Given the description of an element on the screen output the (x, y) to click on. 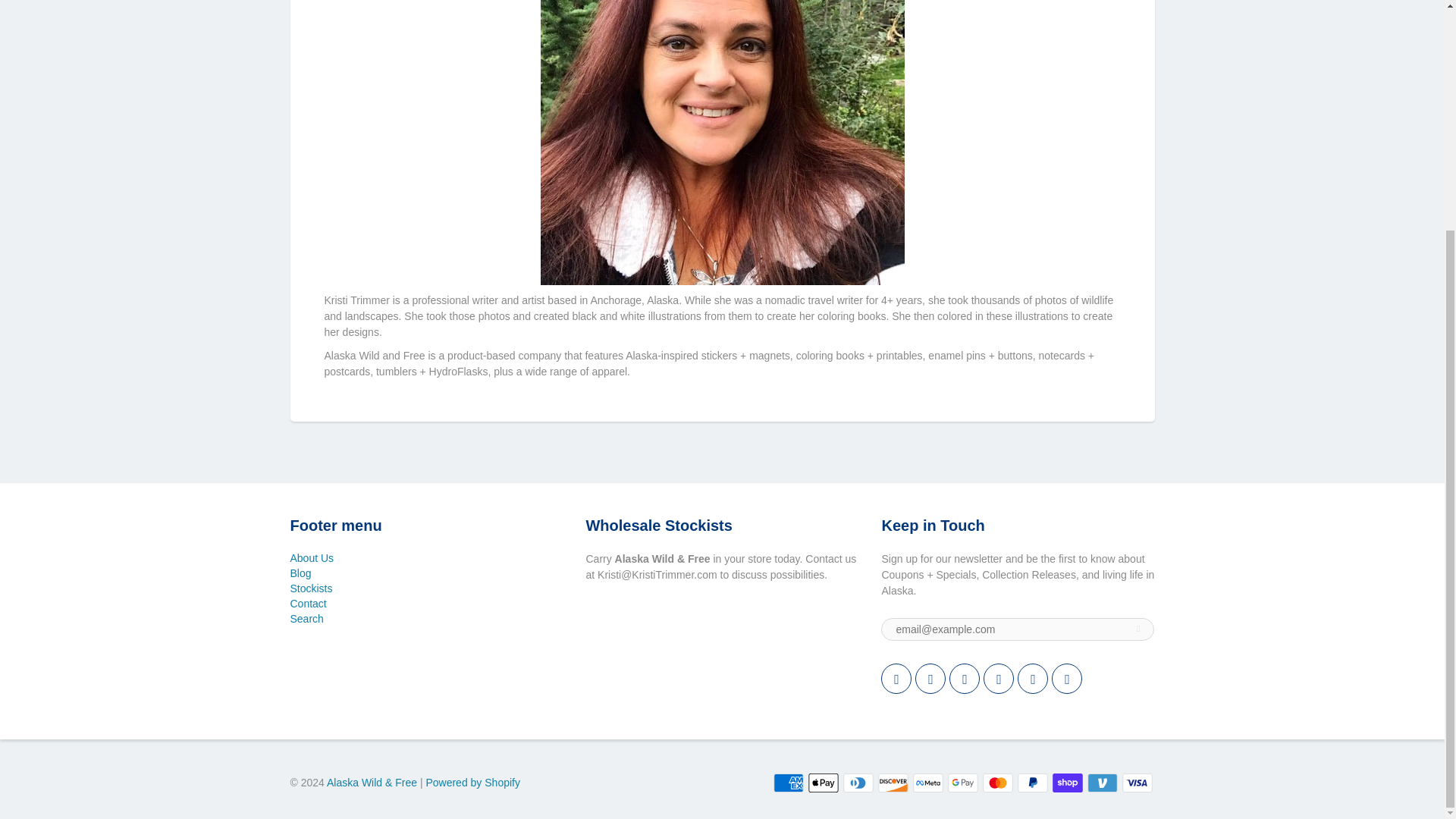
YouTube (1066, 678)
Facebook (929, 678)
Pinterest (964, 678)
Discover (892, 782)
Google Pay (962, 782)
Venmo (1102, 782)
PayPal (1032, 782)
American Express (788, 782)
Shop Pay (1067, 782)
Instagram (998, 678)
Twitter (895, 678)
Apple Pay (823, 782)
Mastercard (997, 782)
Meta Pay (927, 782)
Visa (1137, 782)
